Given the description of an element on the screen output the (x, y) to click on. 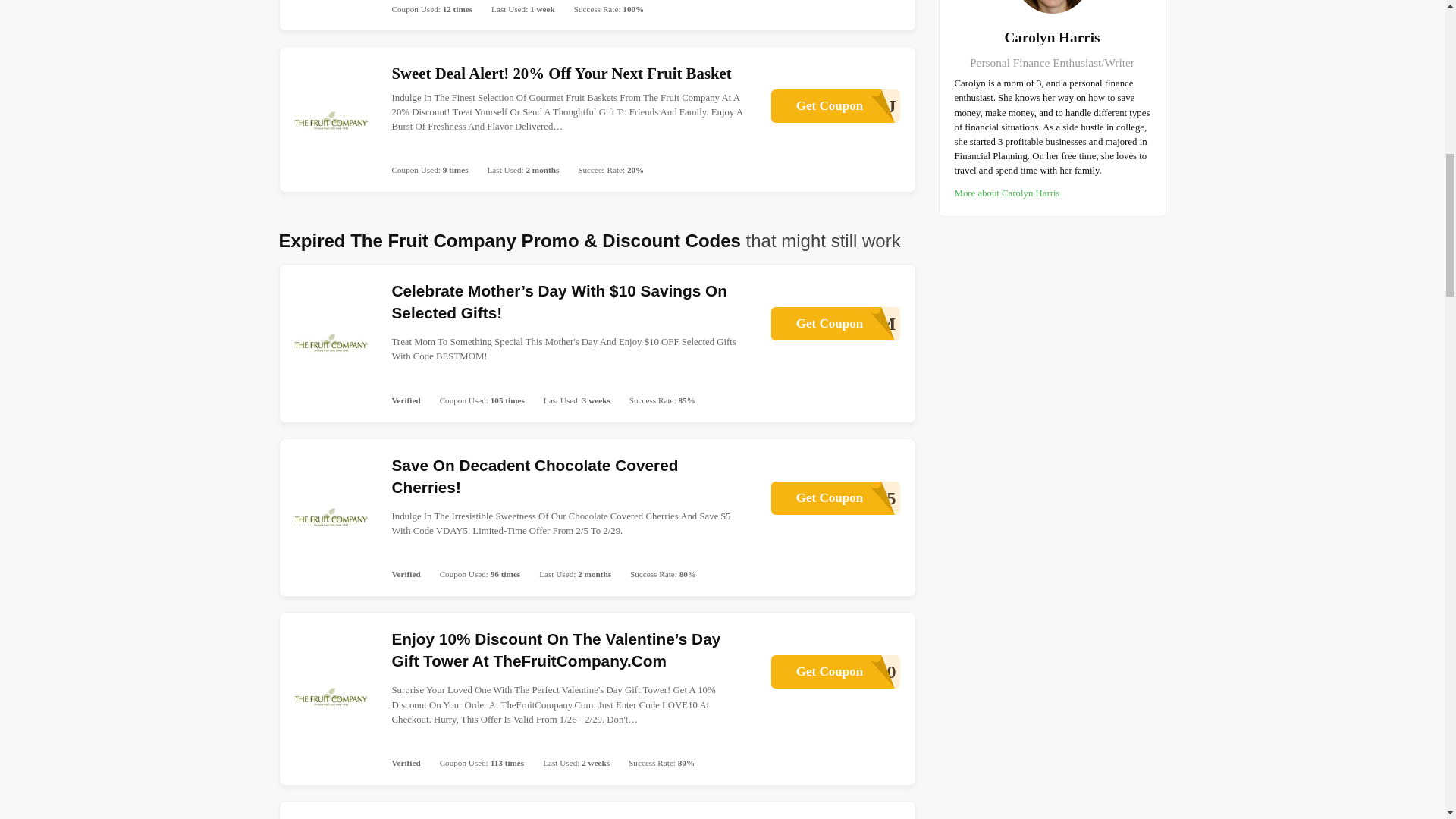
Read more (1006, 193)
More about Carolyn Harris (834, 105)
